Given the description of an element on the screen output the (x, y) to click on. 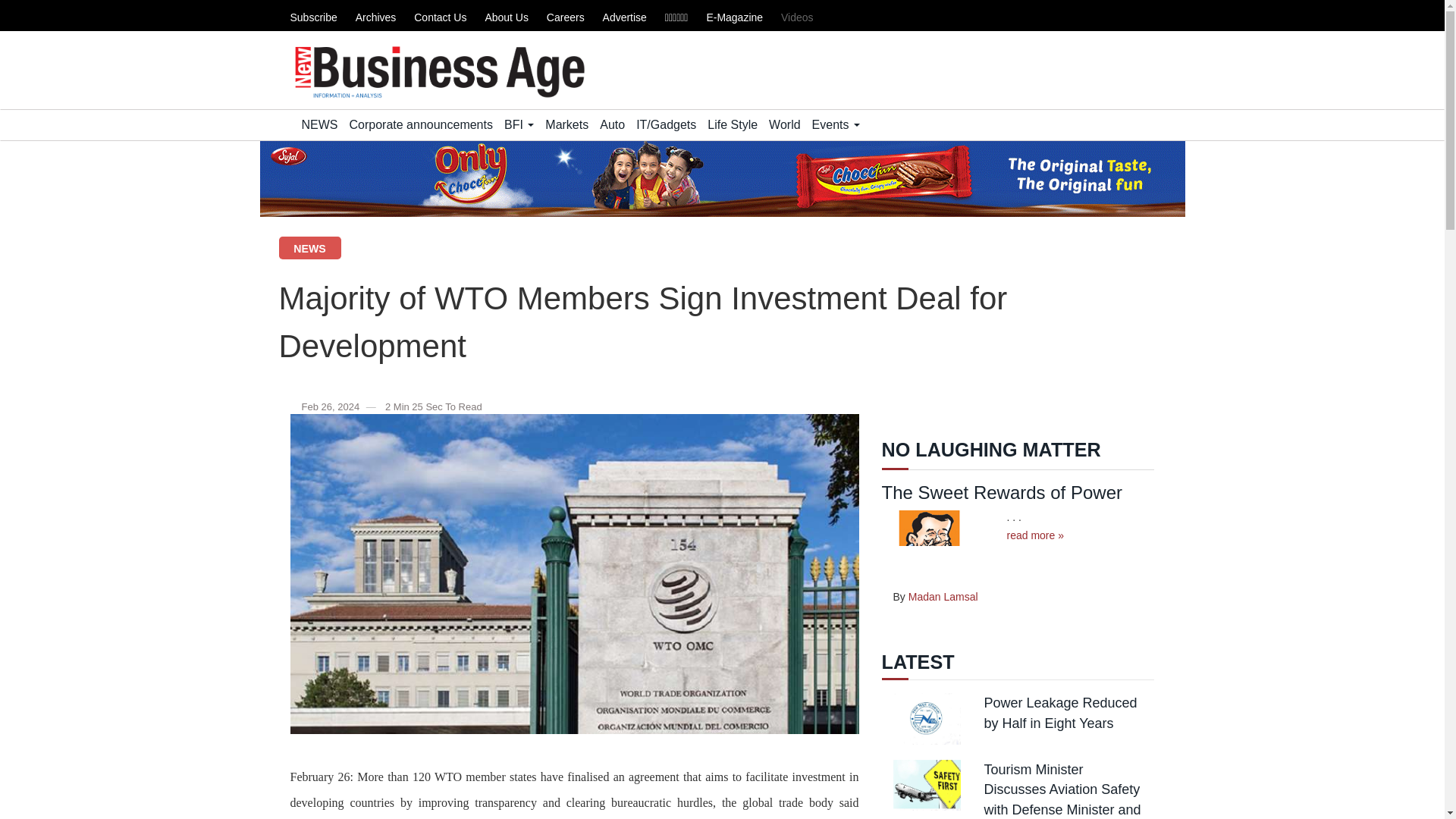
Subscribe (312, 17)
Careers (566, 17)
Advertise (624, 17)
About Us (506, 17)
Contact Us (439, 17)
Archives (375, 17)
E-Magazine (734, 17)
Videos (796, 17)
